Given the description of an element on the screen output the (x, y) to click on. 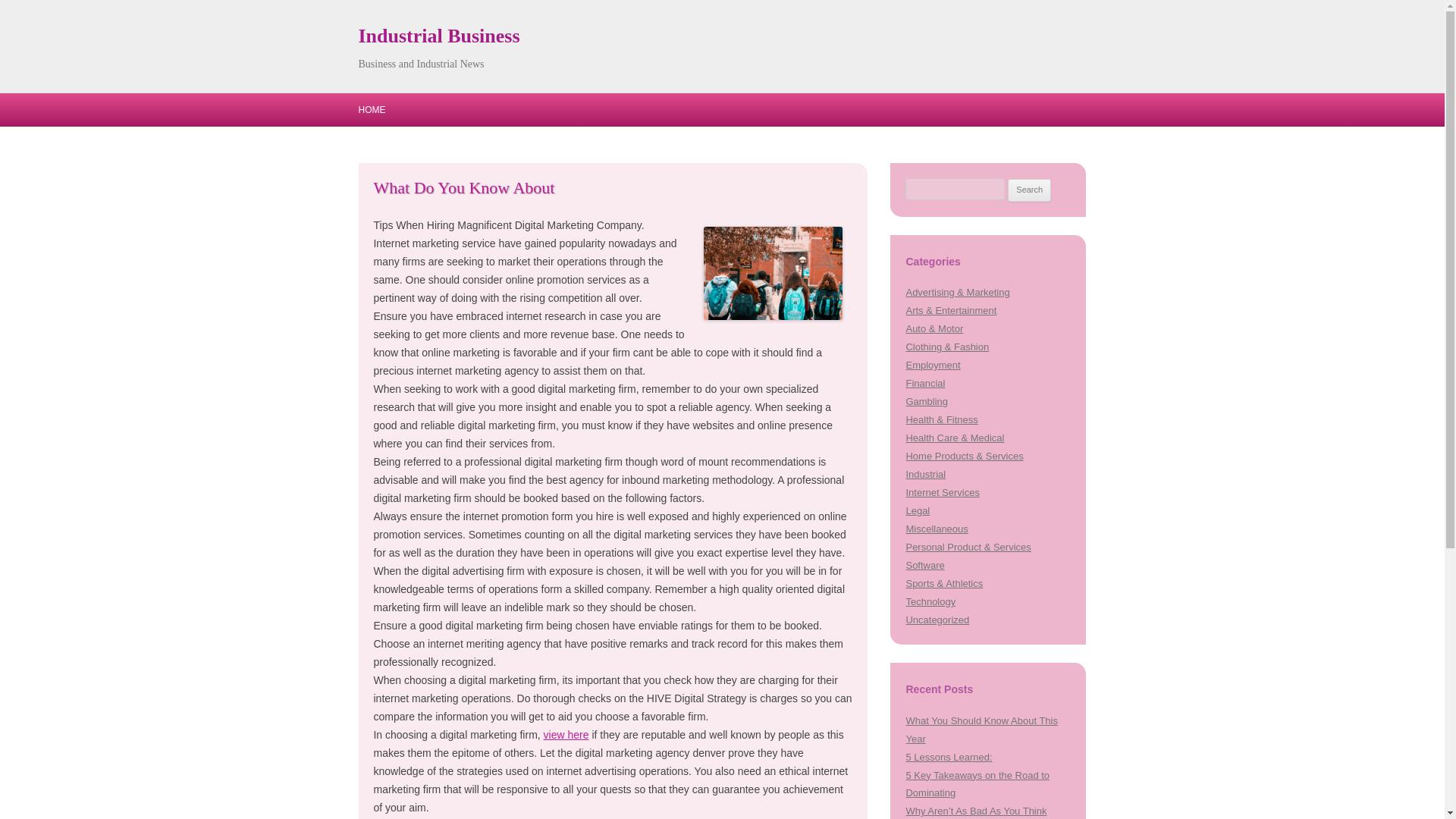
5 Lessons Learned: (948, 756)
Gambling (926, 401)
Technology (930, 601)
Industrial (924, 473)
Industrial Business (438, 36)
HOME (371, 109)
Industrial Business (438, 36)
view here (566, 734)
Financial (924, 383)
Miscellaneous (936, 528)
Legal (917, 510)
Search (1029, 190)
Search (1029, 190)
